Given the description of an element on the screen output the (x, y) to click on. 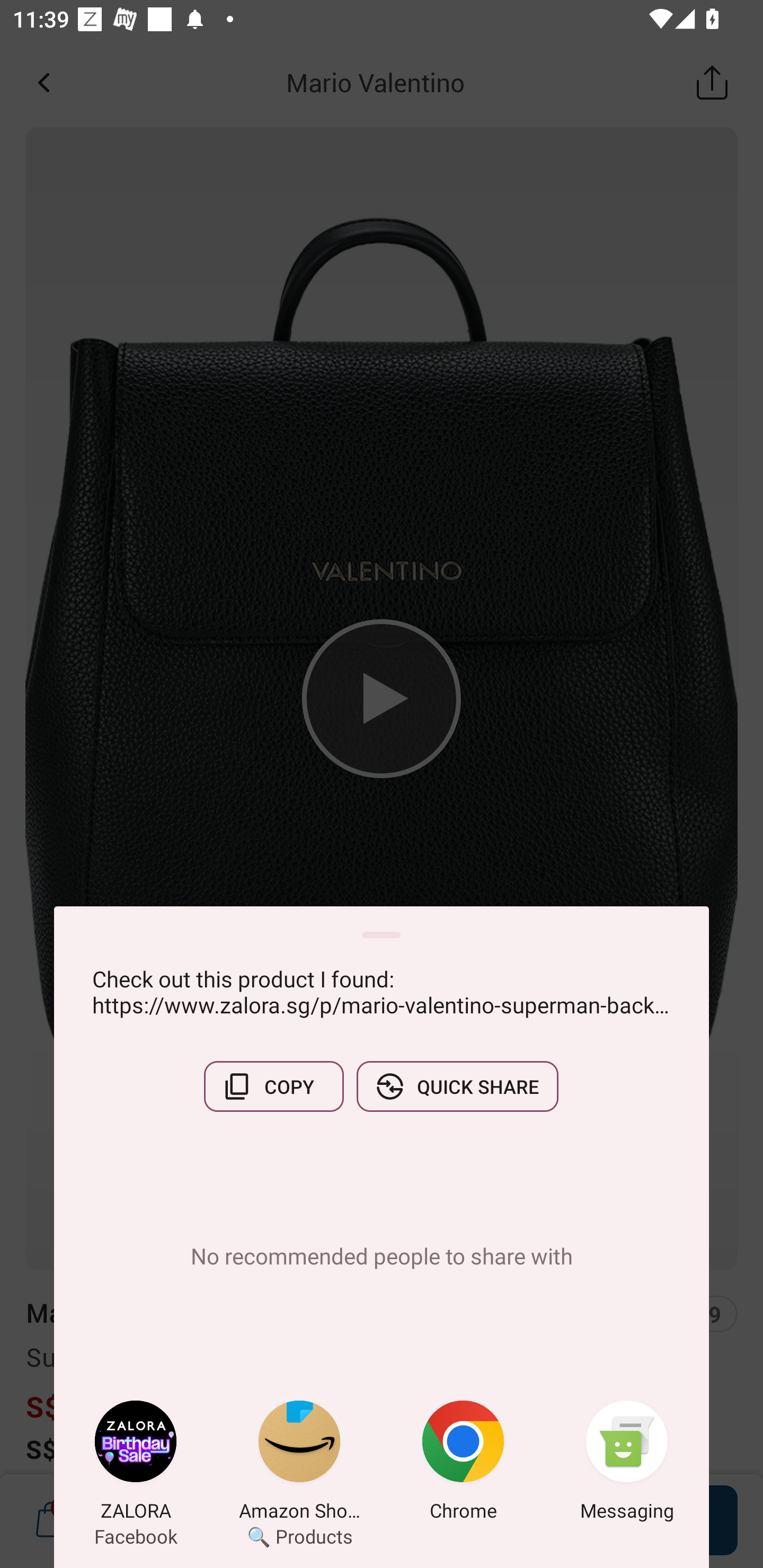
COPY (273, 1086)
QUICK SHARE (457, 1086)
ZALORA Facebook (135, 1463)
Amazon Shopping 🔍 Products (299, 1463)
Chrome (463, 1463)
Messaging (626, 1463)
